Given the description of an element on the screen output the (x, y) to click on. 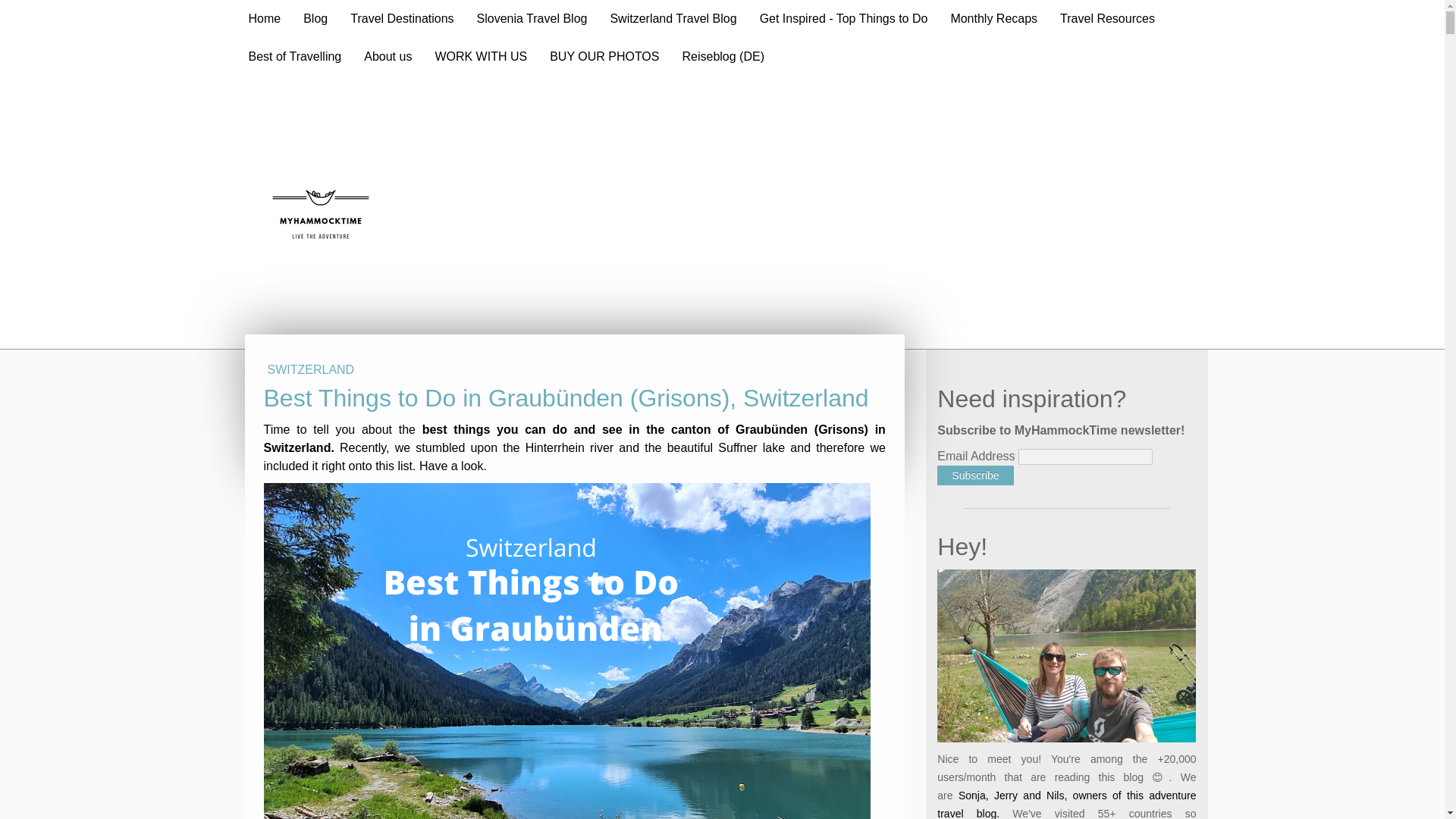
Blog (315, 18)
Subscribe (975, 349)
Home (263, 18)
What to Do in Ticino, Switzerland - Insider Tips (421, 391)
Travel resources (1017, 778)
